Given the description of an element on the screen output the (x, y) to click on. 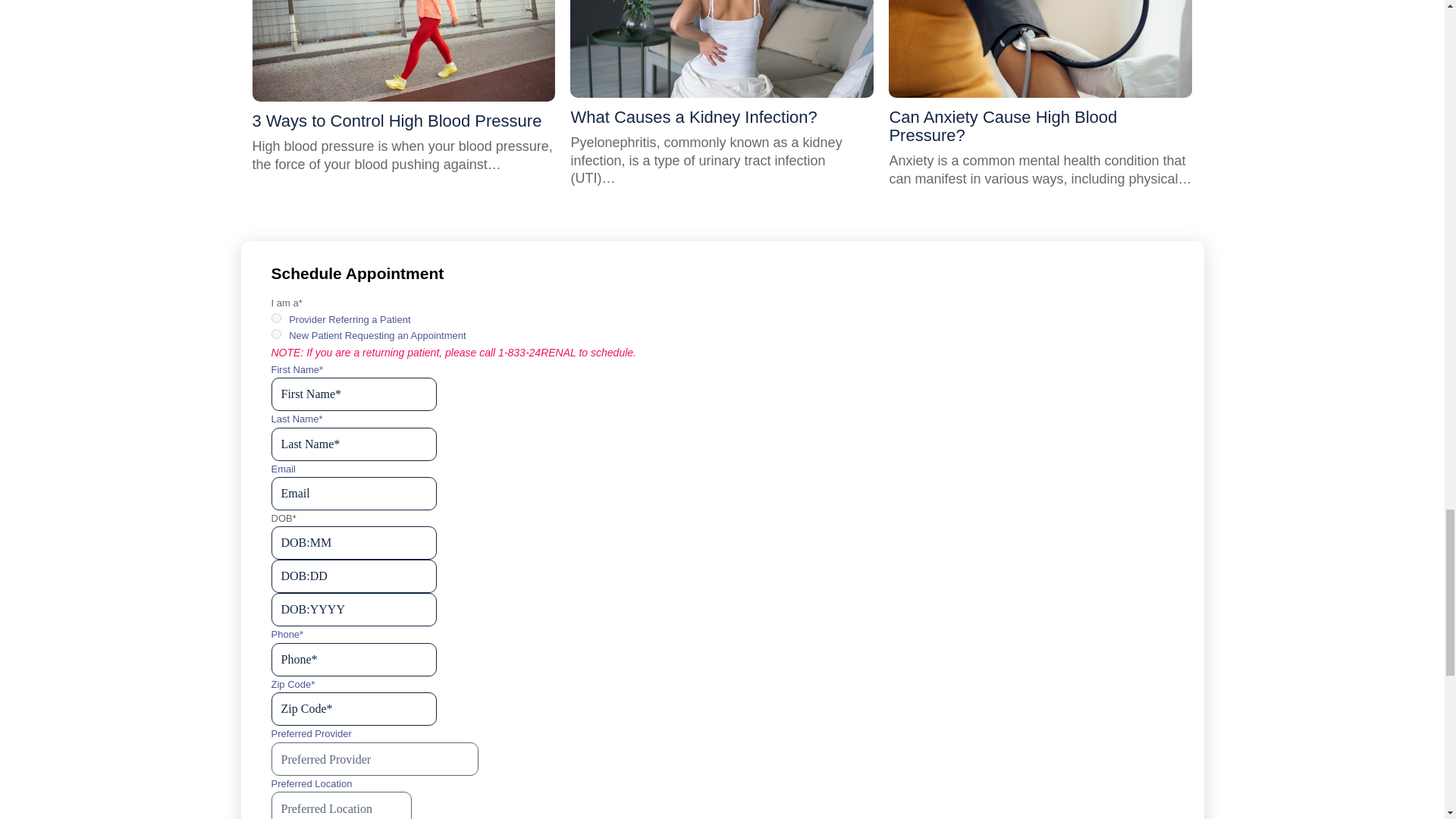
Referring Provider (275, 317)
3 Ways to Control High Blood Pressure (396, 120)
3 Ways to Control High Blood Pressure (402, 50)
What Causes a Kidney Infection? (721, 48)
Can Anxiety Cause High Blood Pressure? (1040, 48)
What Causes a Kidney Infection? (693, 116)
Patient (275, 334)
